Given the description of an element on the screen output the (x, y) to click on. 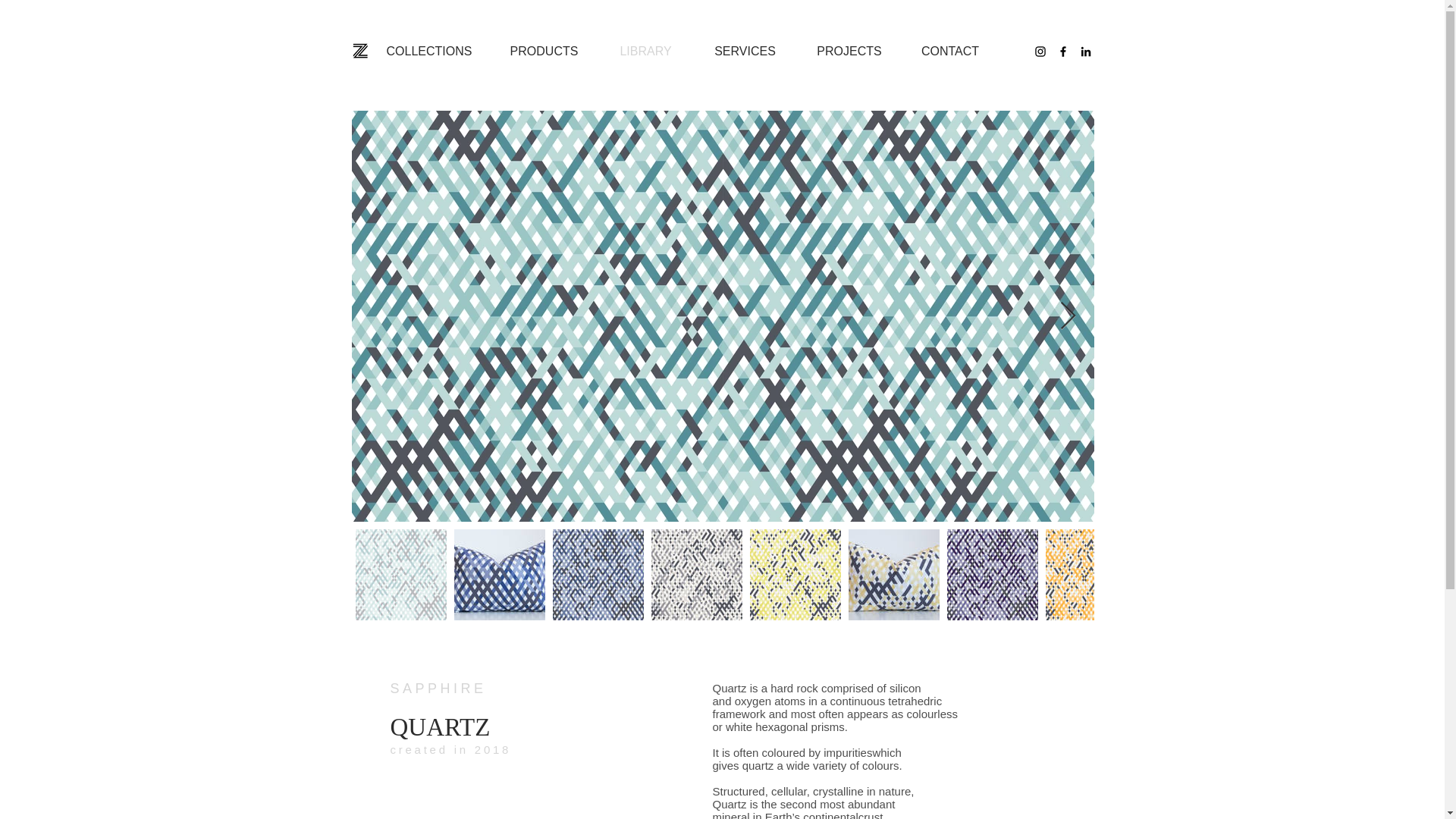
PRODUCTS (542, 51)
LIBRARY (644, 51)
COLLECTIONS (429, 51)
